Given the description of an element on the screen output the (x, y) to click on. 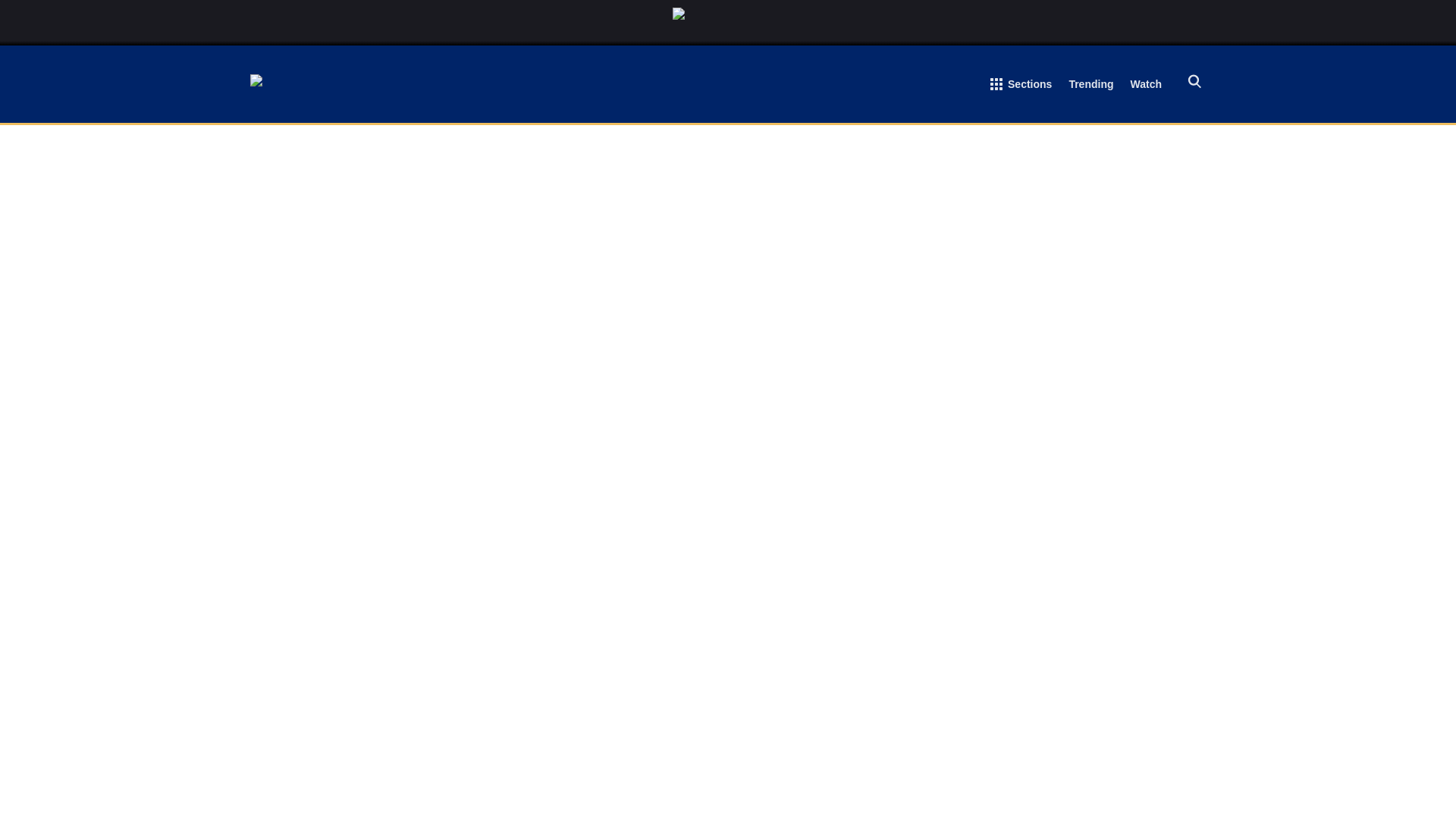
Trending (1090, 86)
Sections (1020, 87)
Watch (1146, 86)
